Given the description of an element on the screen output the (x, y) to click on. 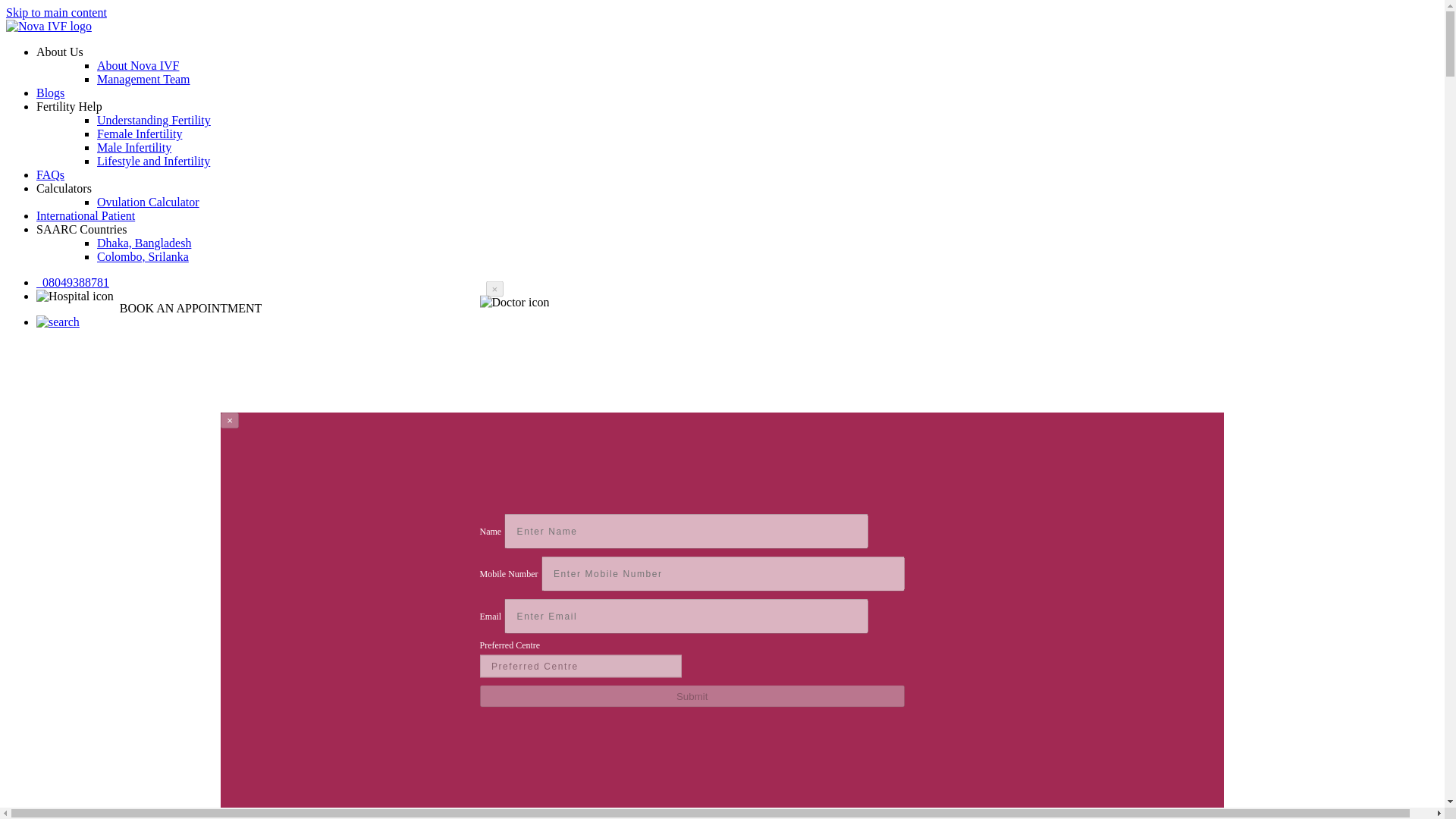
International Patient (85, 215)
About Nova IVF (138, 65)
Fertility Help (68, 106)
FAQs (50, 174)
  08049388781 (72, 282)
Dhaka, Bangladesh (143, 242)
Management Team (143, 78)
Home (48, 25)
Female Infertility (139, 133)
Lifestyle and Infertility (153, 160)
